Given the description of an element on the screen output the (x, y) to click on. 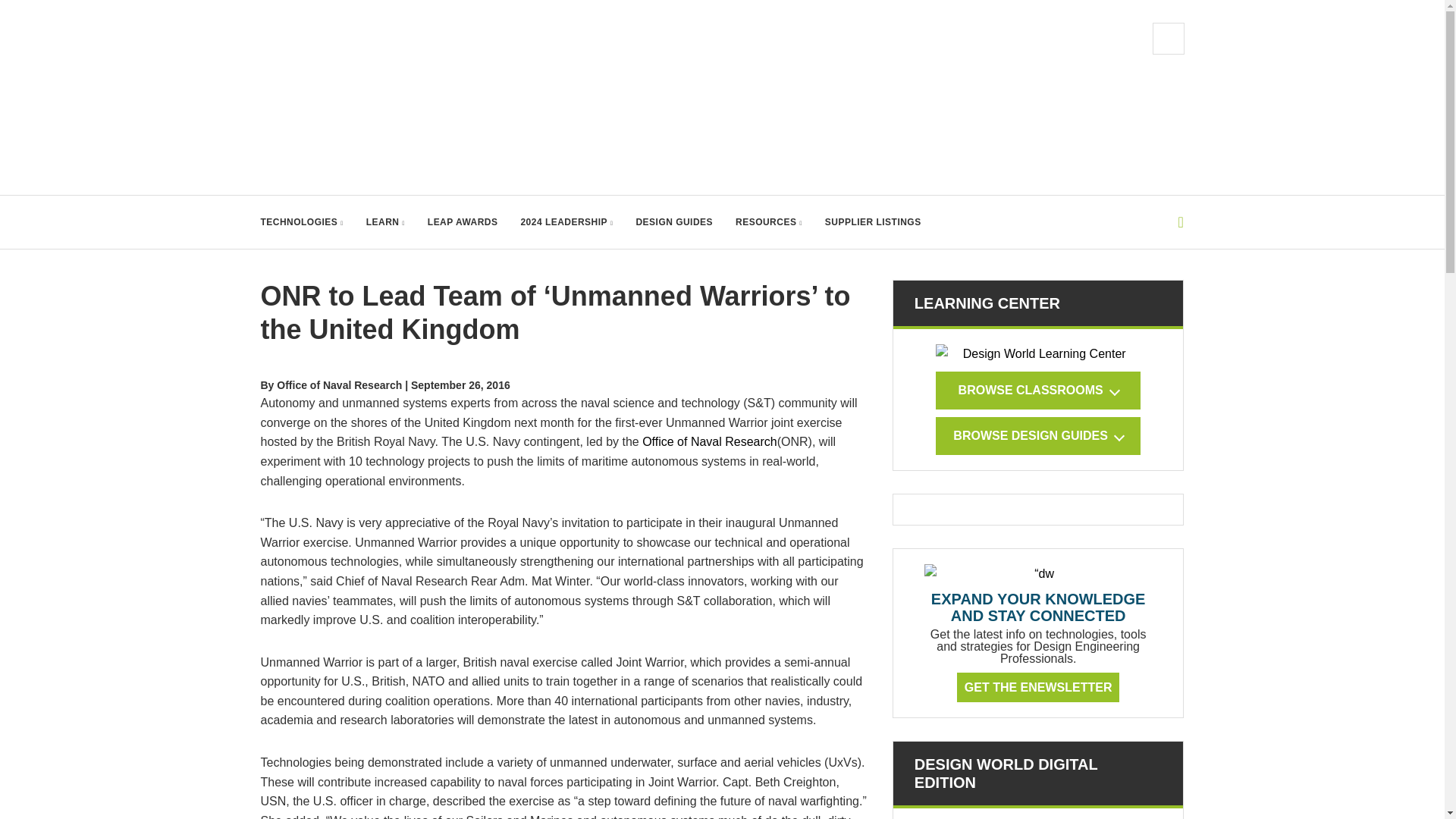
SUPPLIER LISTINGS (873, 221)
Design World (412, 96)
2024 LEADERSHIP (565, 221)
DESIGN GUIDES (673, 221)
RESOURCES (768, 221)
TECHNOLOGIES (301, 221)
LEAP AWARDS (462, 221)
